Given the description of an element on the screen output the (x, y) to click on. 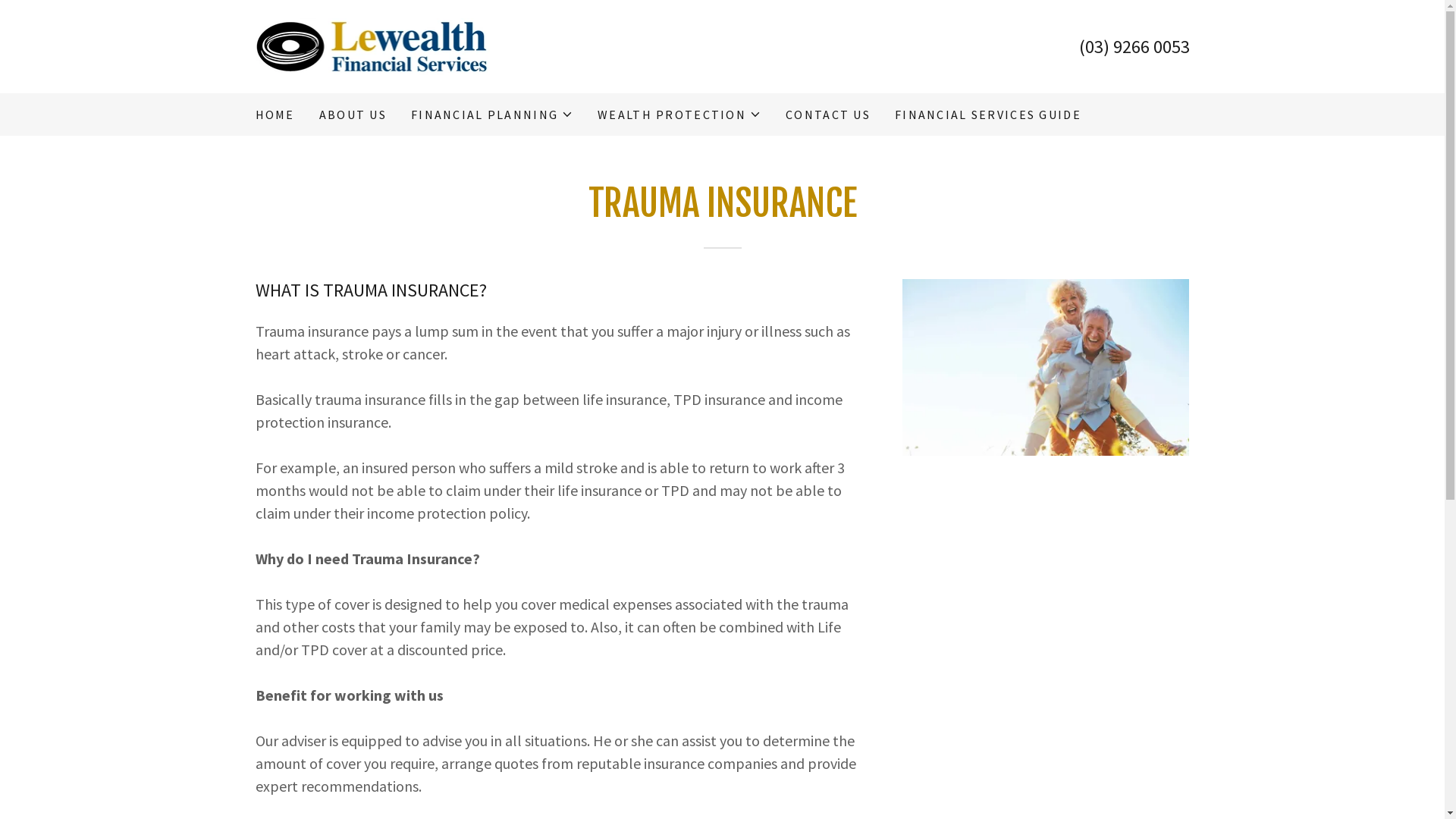
WEALTH PROTECTION Element type: text (679, 114)
(03) 9266 0053 Element type: text (1133, 46)
FINANCIAL SERVICES GUIDE Element type: text (987, 114)
ABOUT US Element type: text (352, 114)
CONTACT US Element type: text (828, 114)
Lewealth Financial Services Element type: hover (371, 44)
FINANCIAL PLANNING Element type: text (492, 114)
HOME Element type: text (274, 114)
